Given the description of an element on the screen output the (x, y) to click on. 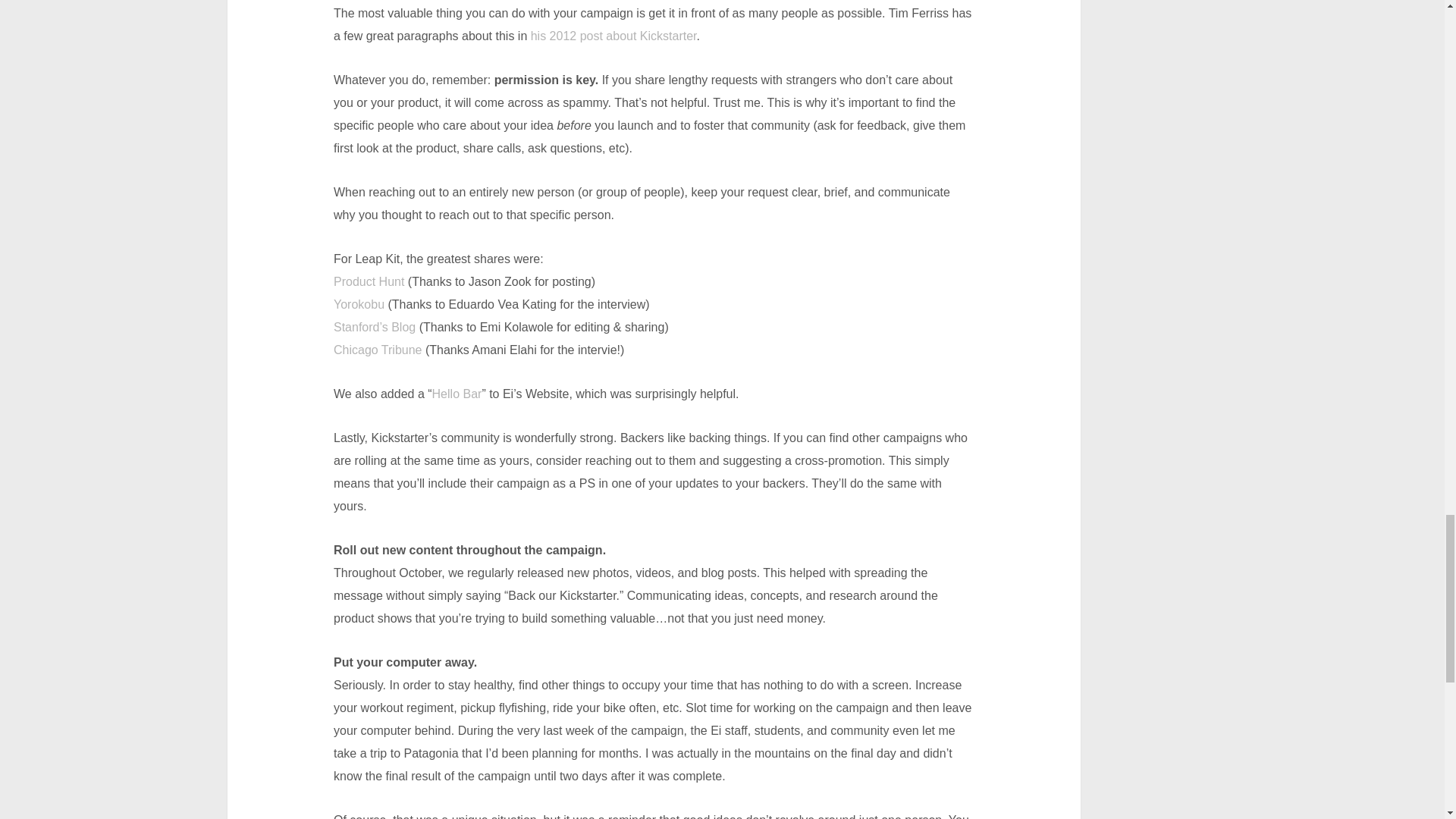
his 2012 post about Kickstarter (614, 35)
Chicago Tribune (377, 349)
Yorokobu (358, 304)
Product Hunt (368, 281)
Hello Bar (456, 393)
